Given the description of an element on the screen output the (x, y) to click on. 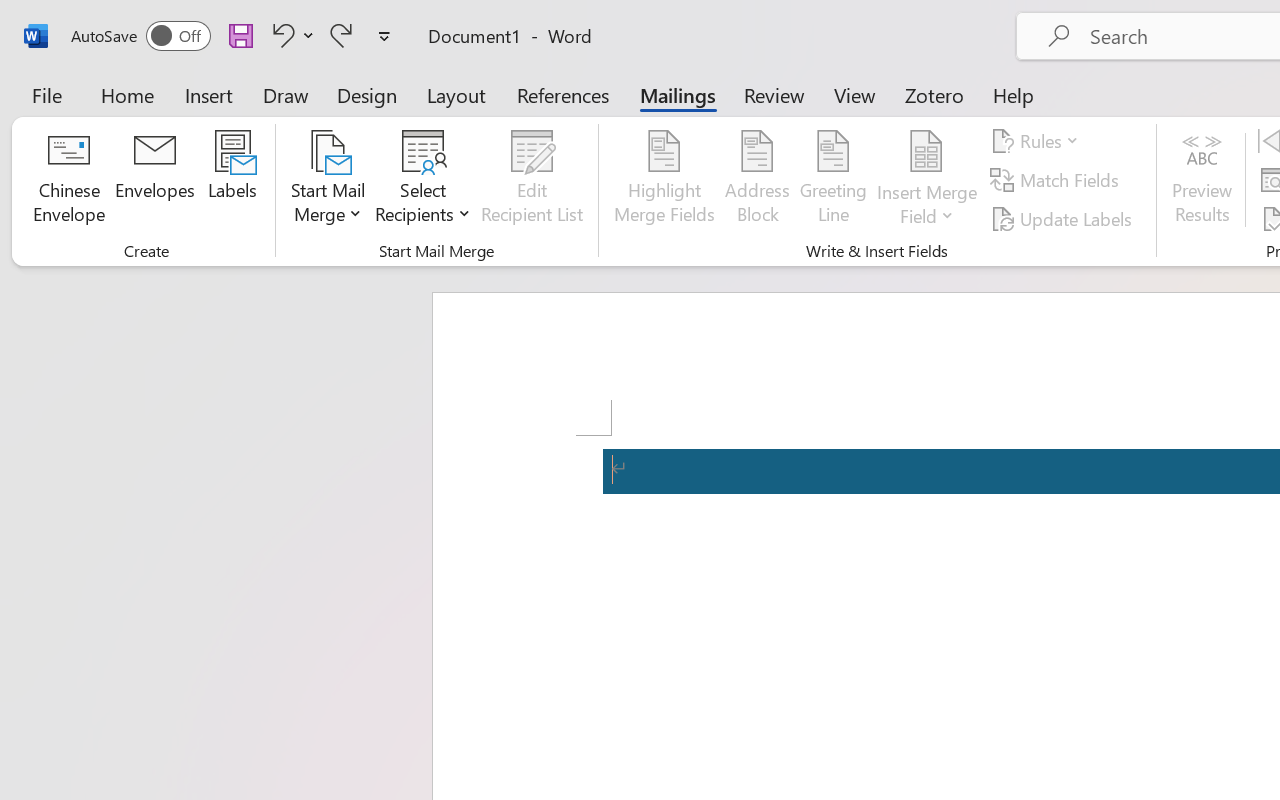
Edit Recipient List... (532, 179)
Undo Apply Quick Style Set (280, 35)
Undo Apply Quick Style Set (290, 35)
Insert Merge Field (927, 151)
Select Recipients (423, 179)
Highlight Merge Fields (664, 179)
Greeting Line... (833, 179)
Start Mail Merge (328, 179)
Envelopes... (155, 179)
